Given the description of an element on the screen output the (x, y) to click on. 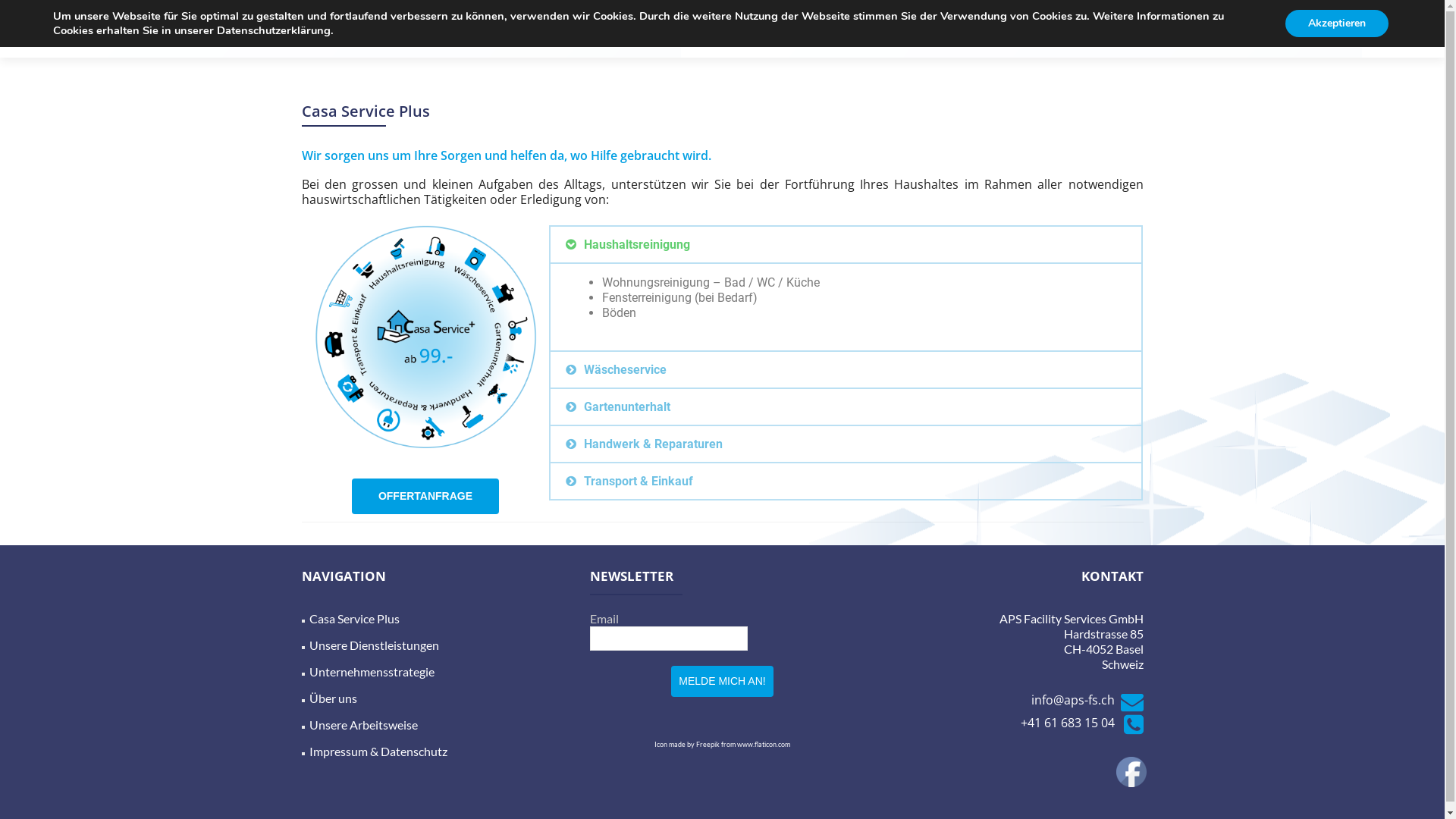
Akzeptieren Element type: text (1336, 23)
Unsere Arbeitsweise Element type: text (363, 724)
Casa Service Plus Element type: text (354, 618)
OFFERTANFRAGE Element type: text (424, 496)
Unsere Dienstleistungen Element type: text (374, 644)
Unternehmensstrategie Element type: text (371, 671)
Facebook Element type: hover (1131, 771)
+41 61 683 15 04    Element type: text (1081, 722)
MELDE MICH AN! Element type: text (721, 680)
info@aps-fs.ch   Element type: text (1087, 699)
Offene Stelle Element type: text (1117, 28)
Kontakt Element type: text (1038, 28)
Unsere Dienstleistungen Element type: text (839, 28)
www.flaticon.com Element type: text (763, 744)
Haushaltsreinigung Element type: text (636, 244)
Gartenunterhalt Element type: text (626, 406)
Transport & Einkauf Element type: text (638, 480)
Handwerk & Reparaturen Element type: text (652, 443)
Casa Service Plus Element type: text (698, 28)
Impressum & Datenschutz Element type: text (378, 750)
